Given the description of an element on the screen output the (x, y) to click on. 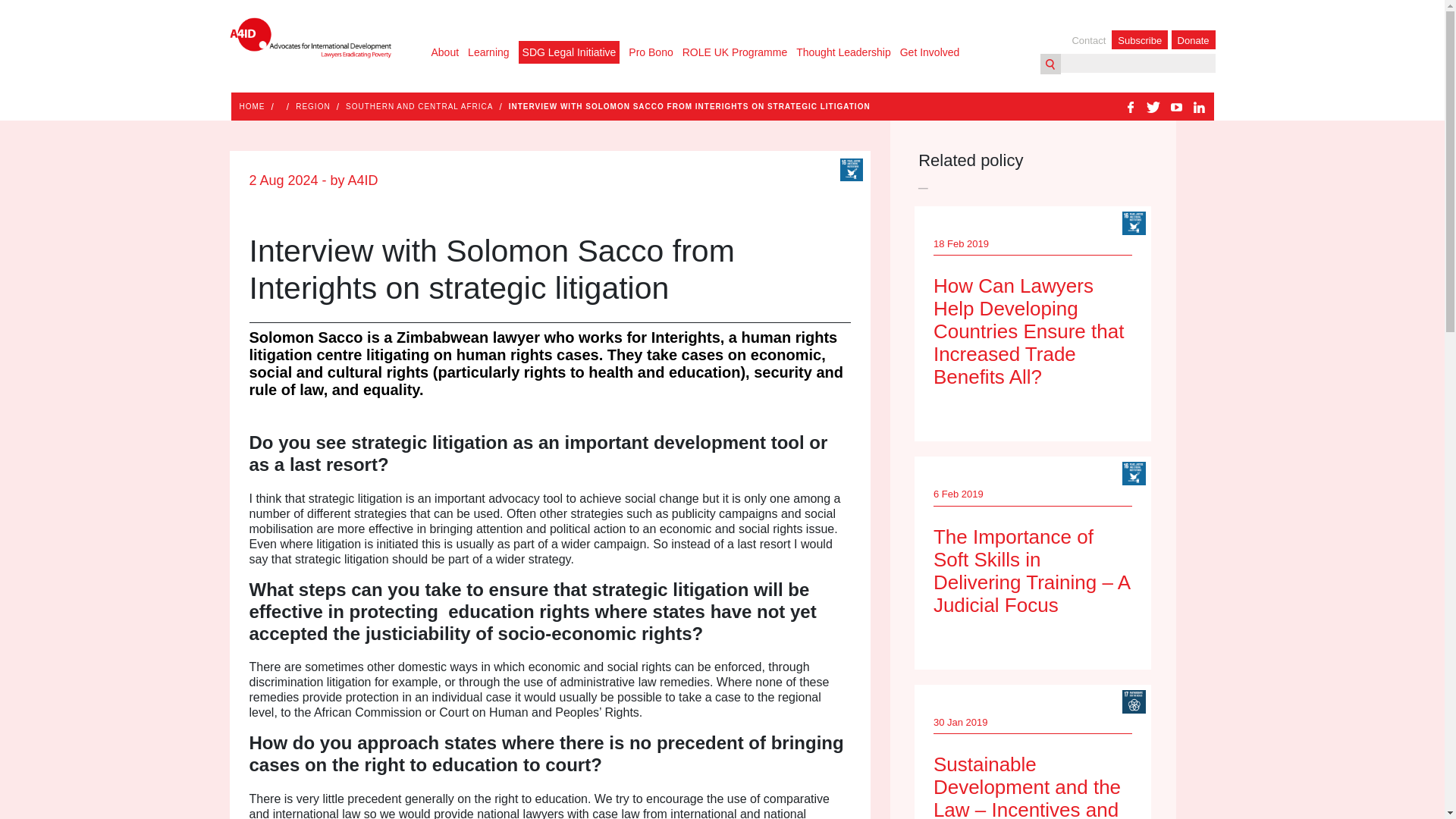
Donate (1193, 39)
Home (252, 106)
Subscribe (1139, 39)
Search Site (1051, 64)
Get Involved (929, 51)
Contact  (1089, 40)
A4ID (309, 39)
SDG Legal Initiative (569, 51)
Donate (1193, 39)
